Given the description of an element on the screen output the (x, y) to click on. 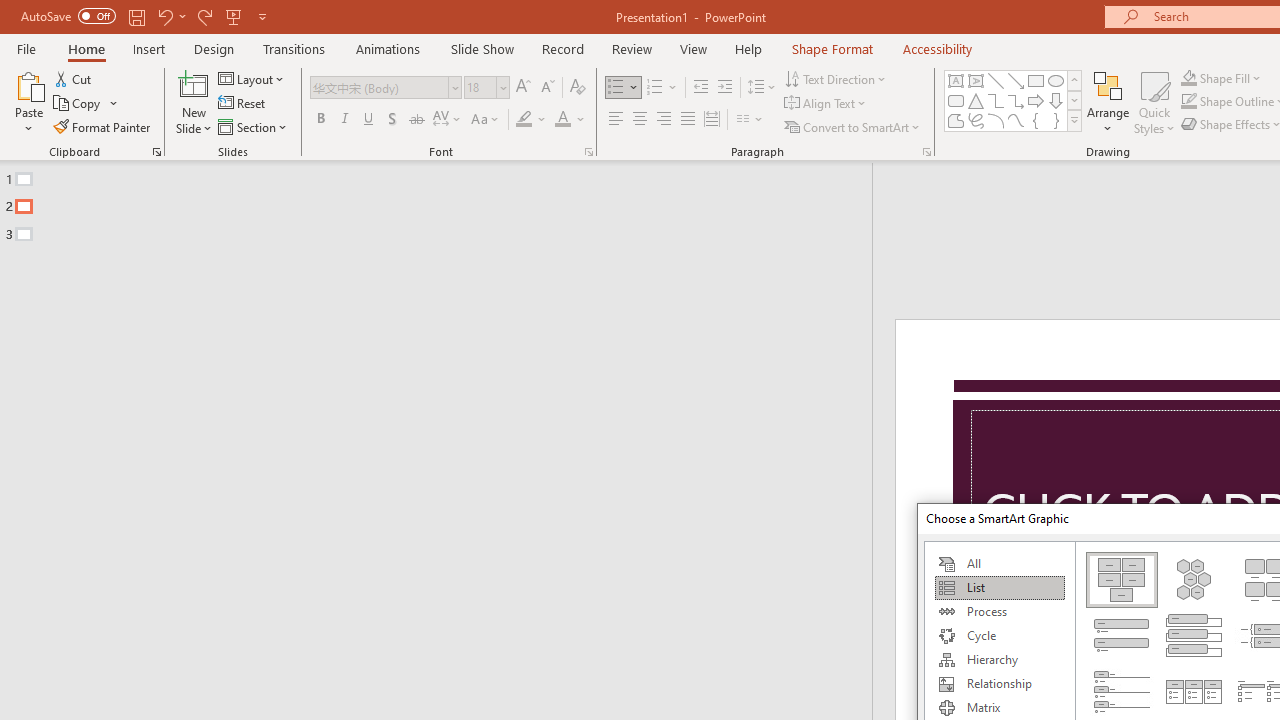
Font (379, 87)
Basic Block List (1121, 579)
Align Right (663, 119)
Quick Styles (1154, 102)
Bullets (623, 87)
Office Clipboard... (156, 151)
Columns (750, 119)
Save (136, 15)
Freeform: Shape (955, 120)
Layout (252, 78)
Font Color (569, 119)
From Beginning (234, 15)
Rectangle: Rounded Corners (955, 100)
Cut (73, 78)
